Given the description of an element on the screen output the (x, y) to click on. 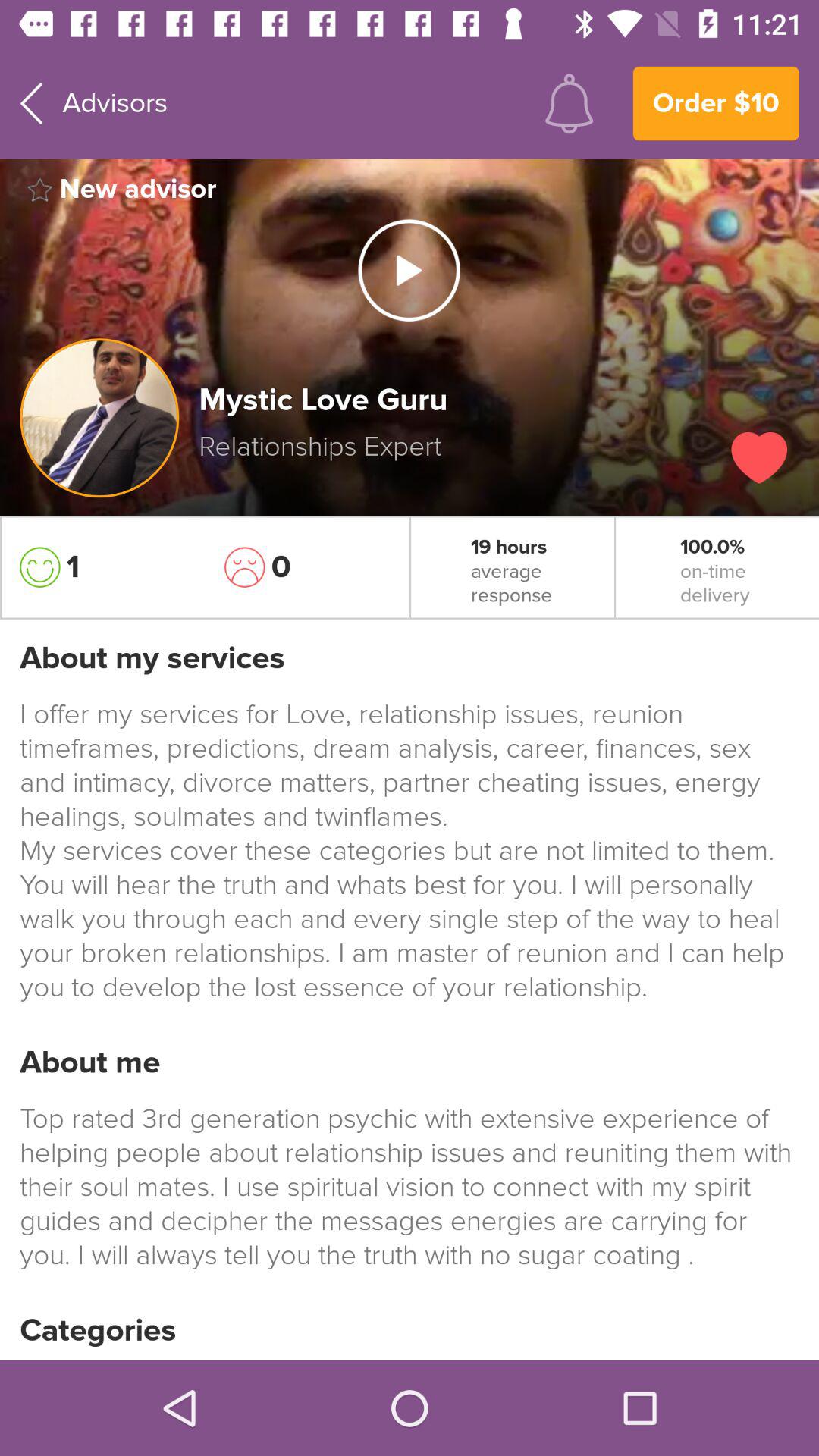
like button (759, 457)
